Given the description of an element on the screen output the (x, y) to click on. 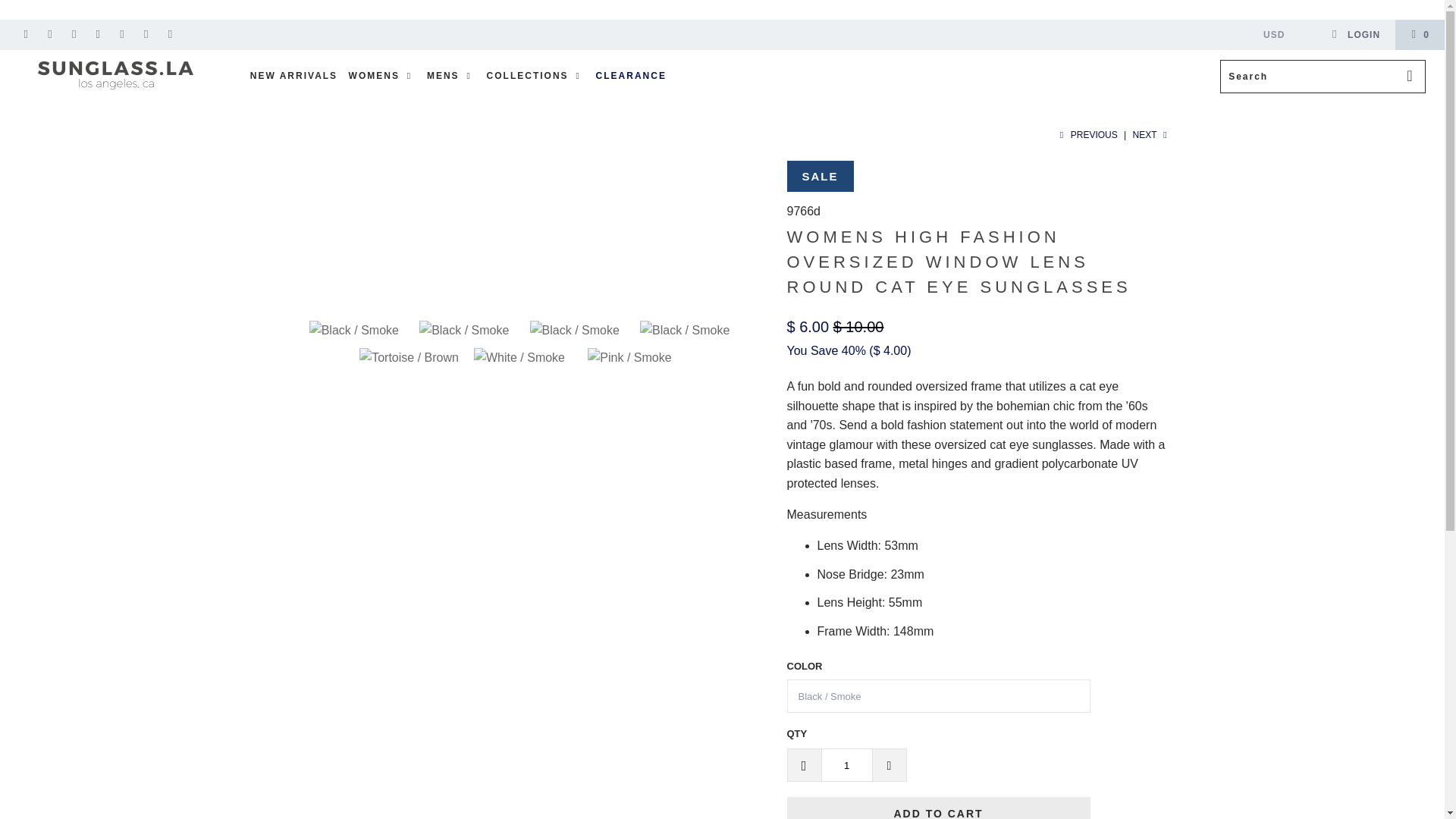
sunglass.la on Vimeo (96, 34)
sunglass.la (115, 74)
1 (846, 765)
sunglass.la on YouTube (73, 34)
Previous (1086, 134)
My Account  (1355, 34)
sunglass.la on Facebook (49, 34)
Next (1151, 134)
sunglass.la on Pinterest (121, 34)
sunglass.la on Twitter (25, 34)
Email sunglass.la (169, 34)
sunglass.la on Instagram (145, 34)
